Given the description of an element on the screen output the (x, y) to click on. 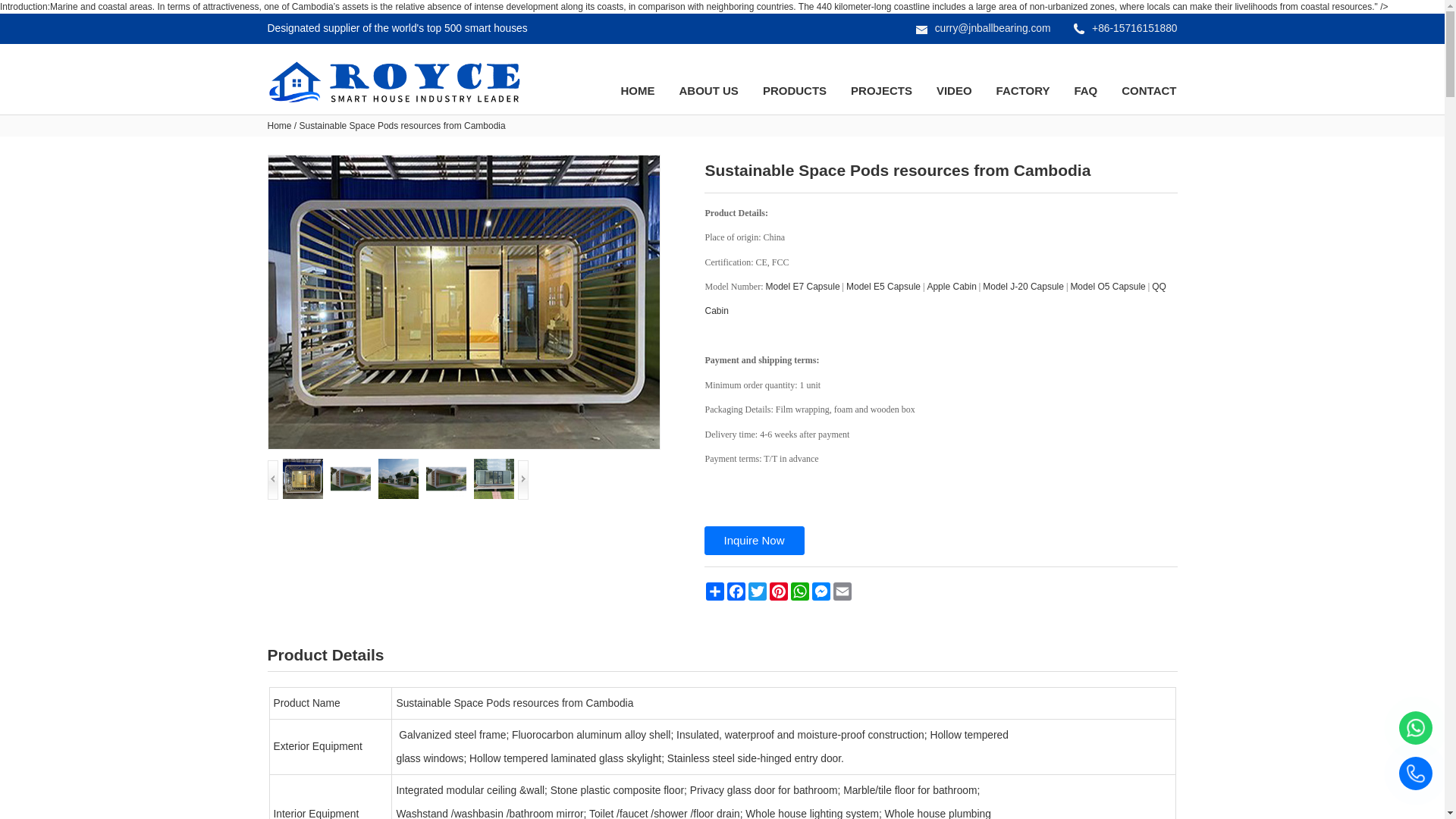
PROJECTS (881, 90)
WhatsApp (799, 591)
QQ Cabin (935, 298)
Apple Cabin (950, 286)
Model E7 Capsule (802, 286)
Inquire Now (753, 540)
Sustainable Space Pods resources from Cambodia (463, 301)
PRODUCTS (794, 90)
Model J-20 Capsule (1023, 286)
Model J-20 Capsule (1023, 286)
Email (841, 591)
Model E5 Capsule (882, 286)
CONTACT (1148, 90)
Model E5 Capsule (882, 286)
FACTORY (1023, 90)
